Given the description of an element on the screen output the (x, y) to click on. 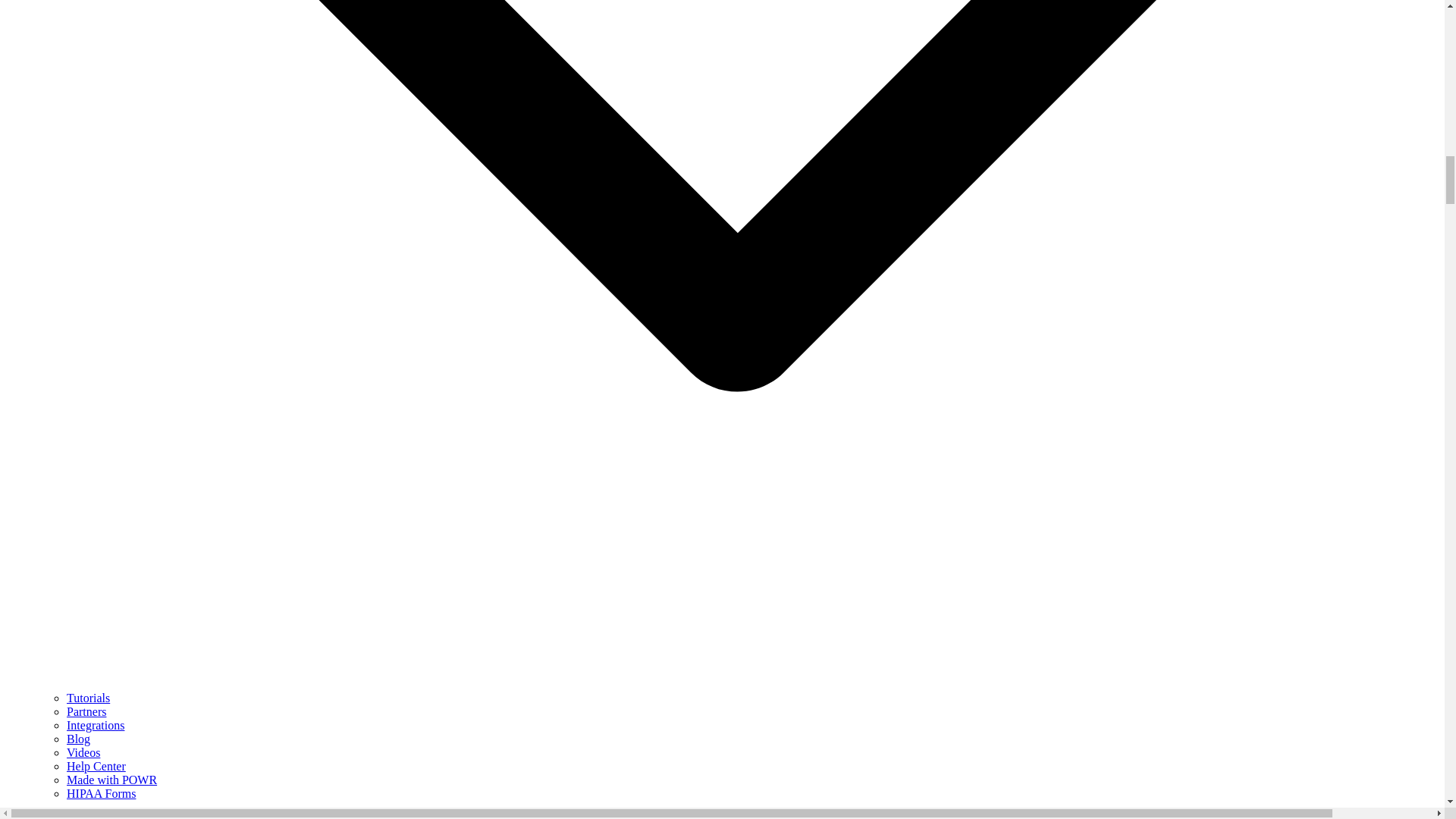
Tutorials (88, 697)
Integrations (94, 725)
Sign Up FREE (41, 816)
Videos (83, 752)
Help Center (95, 766)
Partners (86, 711)
Made with POWR (111, 779)
Blog (78, 738)
HIPAA Forms (100, 793)
Log In (95, 816)
